Given the description of an element on the screen output the (x, y) to click on. 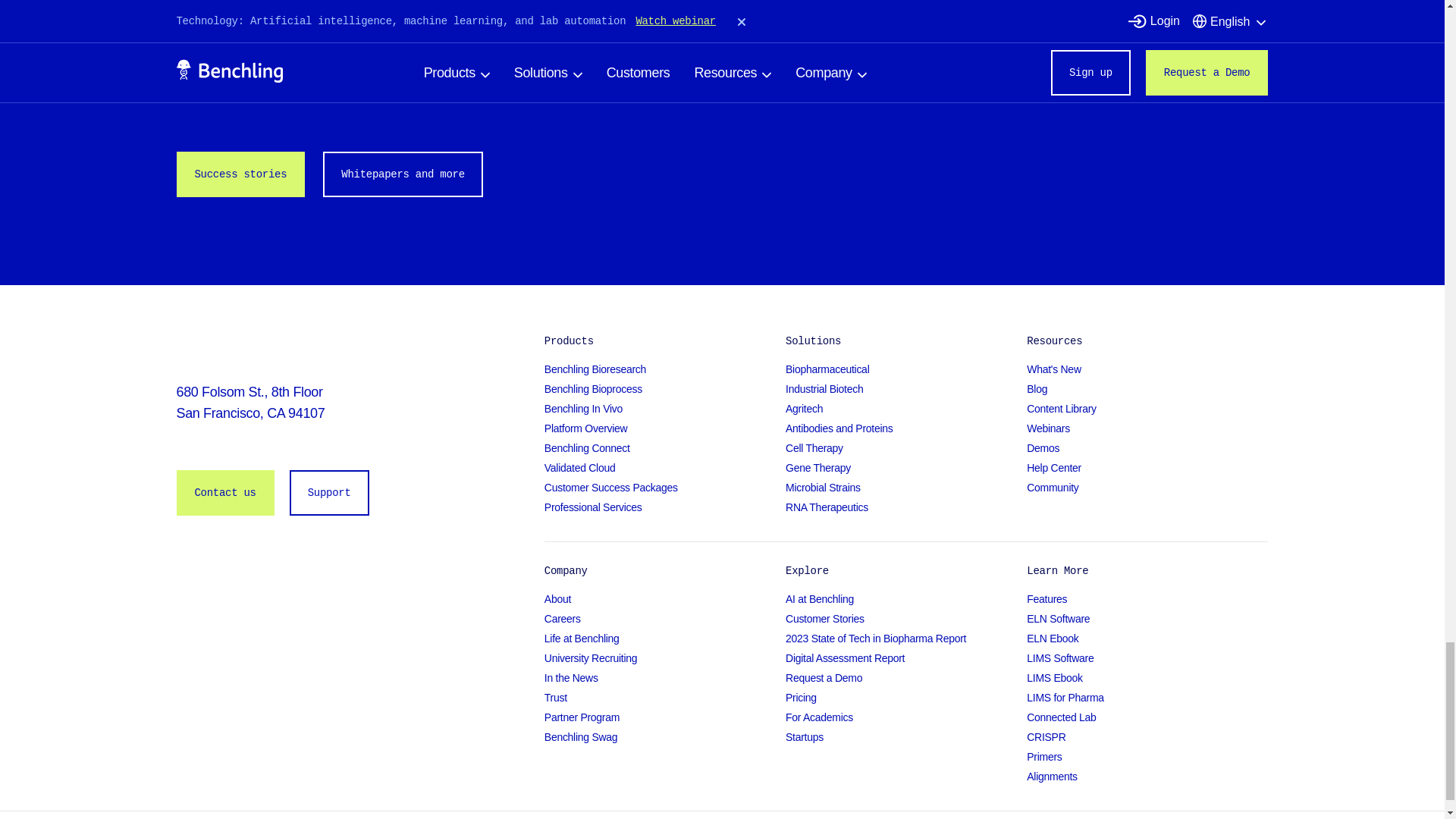
Professional Services (665, 507)
Benchling Connect (665, 448)
Validated Cloud (665, 468)
What's New (1147, 368)
Agritech (906, 408)
Antibodies and Proteins (906, 427)
Benchling In Vivo (665, 408)
Support (329, 492)
Cell Therapy (906, 448)
Gene Therapy (906, 468)
